Given the description of an element on the screen output the (x, y) to click on. 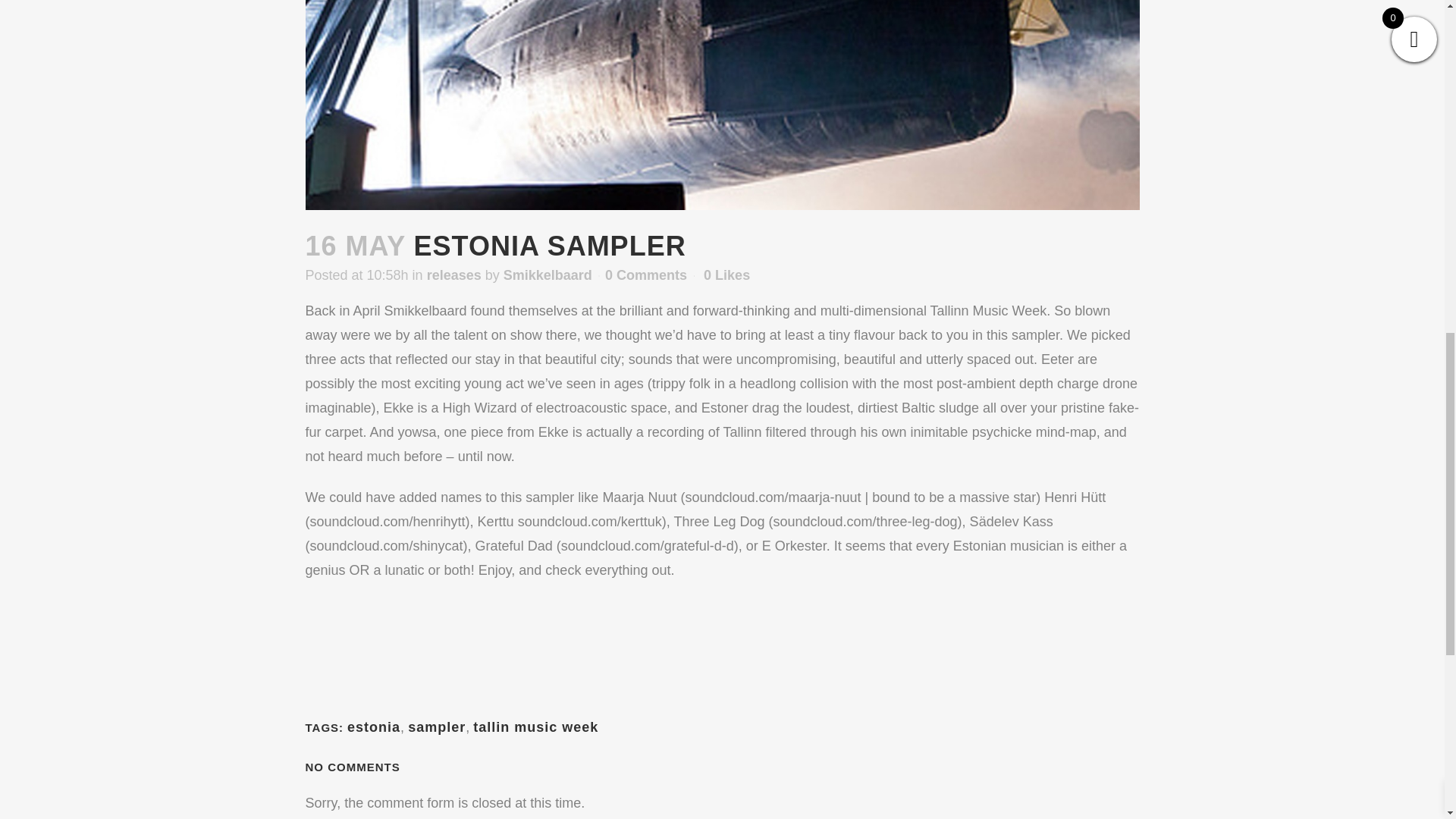
releases (453, 274)
Like this (726, 275)
sampler (436, 726)
tallin music week (535, 726)
0 Comments (646, 274)
estonia (373, 726)
Smikkelbaard (547, 274)
0 Likes (726, 275)
